Given the description of an element on the screen output the (x, y) to click on. 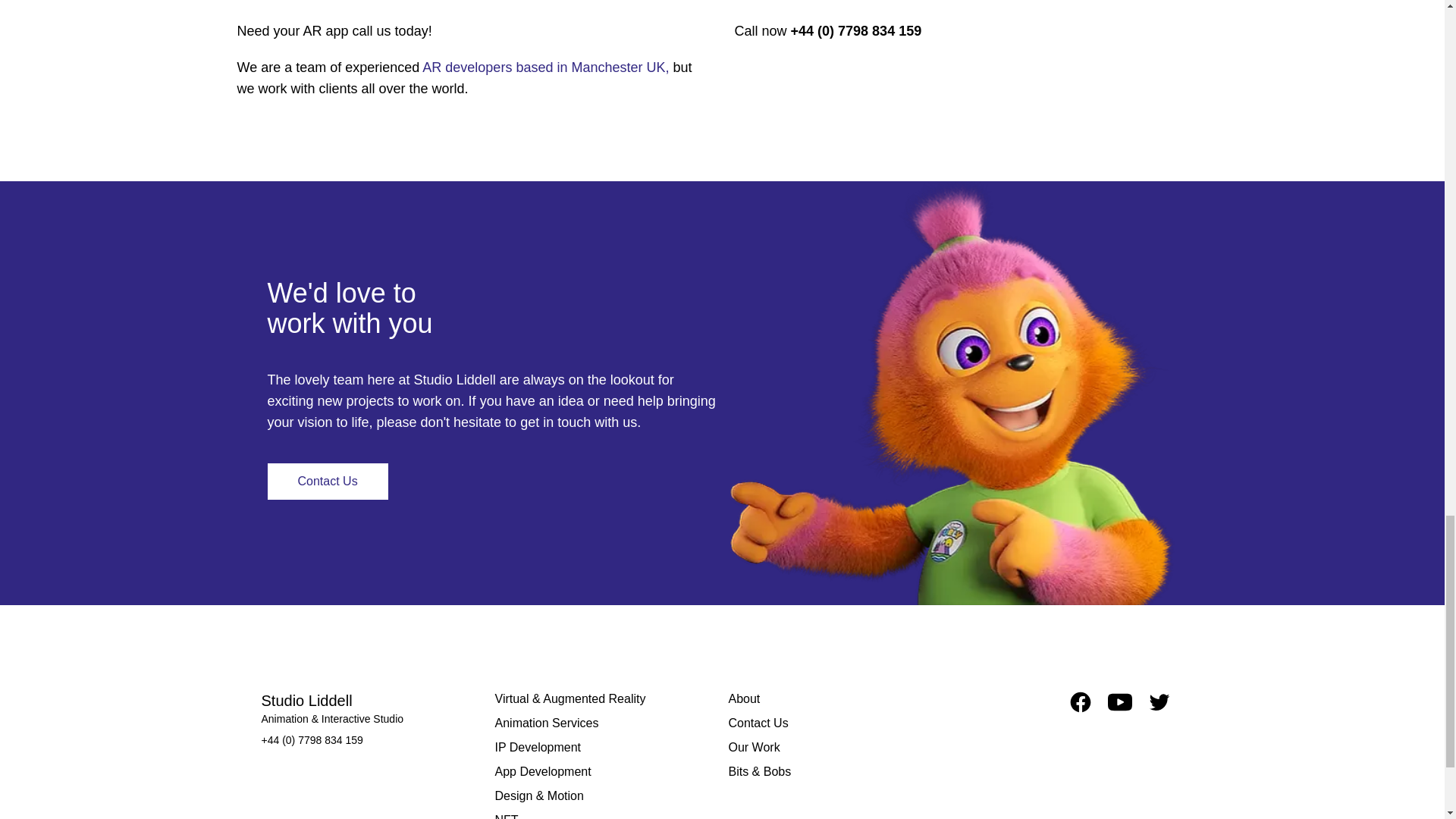
Contact Us (838, 723)
NFT (605, 815)
App Development (605, 771)
Contact Us (326, 481)
AR developers based in Manchester UK, (545, 67)
Studio Liddell (306, 700)
Our Work (838, 747)
Facebook (1079, 702)
IP Development (605, 747)
Animation Services (605, 723)
Contact Us (326, 481)
About (838, 699)
Youtube (1118, 702)
